Given the description of an element on the screen output the (x, y) to click on. 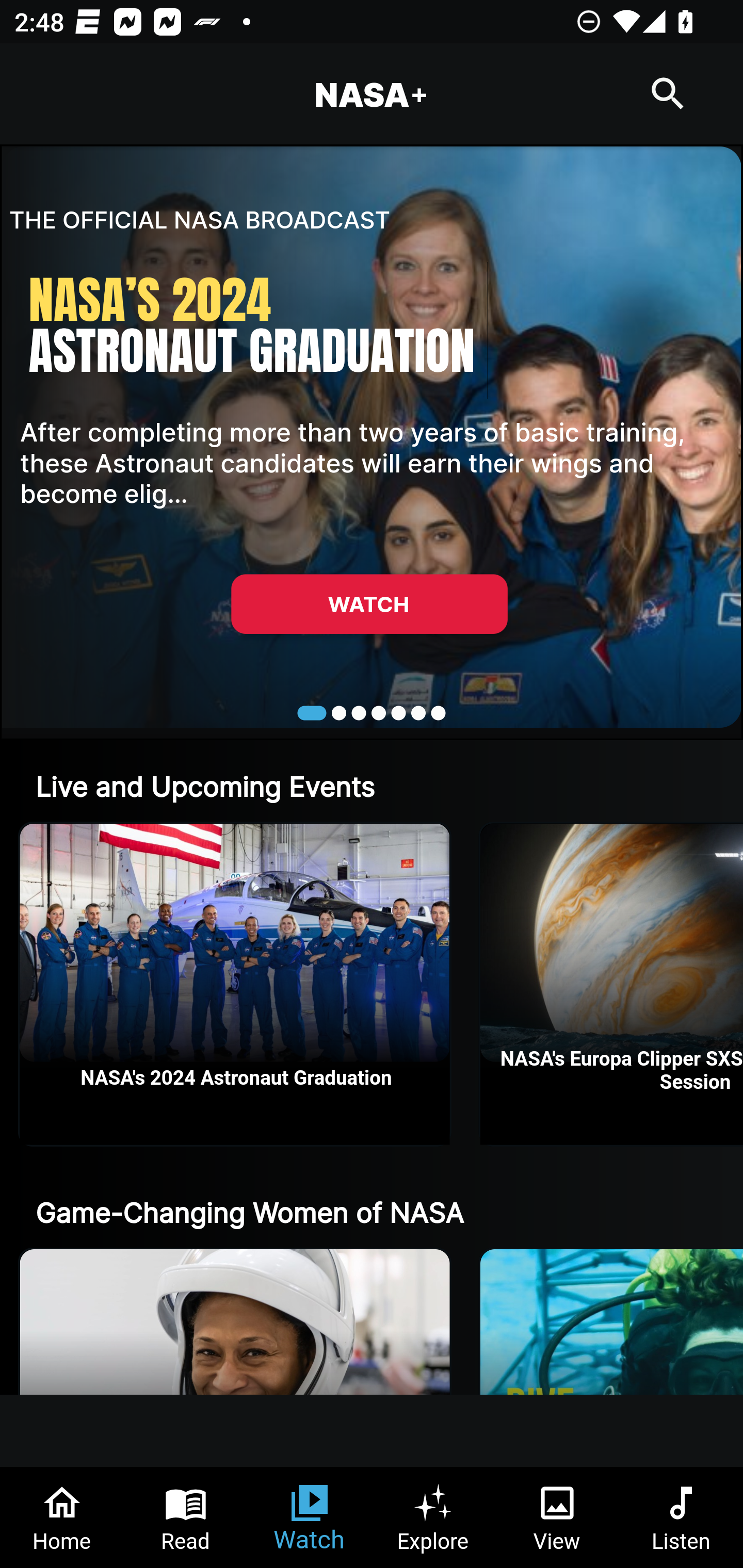
WATCH (369, 603)
NASA's 2024 Astronaut Graduation (235, 983)
NASA's Europa Clipper SXSW 2024 Opening Session (611, 983)
Home
Tab 1 of 6 (62, 1517)
Read
Tab 2 of 6 (185, 1517)
Watch
Tab 3 of 6 (309, 1517)
Explore
Tab 4 of 6 (433, 1517)
View
Tab 5 of 6 (556, 1517)
Listen
Tab 6 of 6 (680, 1517)
